Given the description of an element on the screen output the (x, y) to click on. 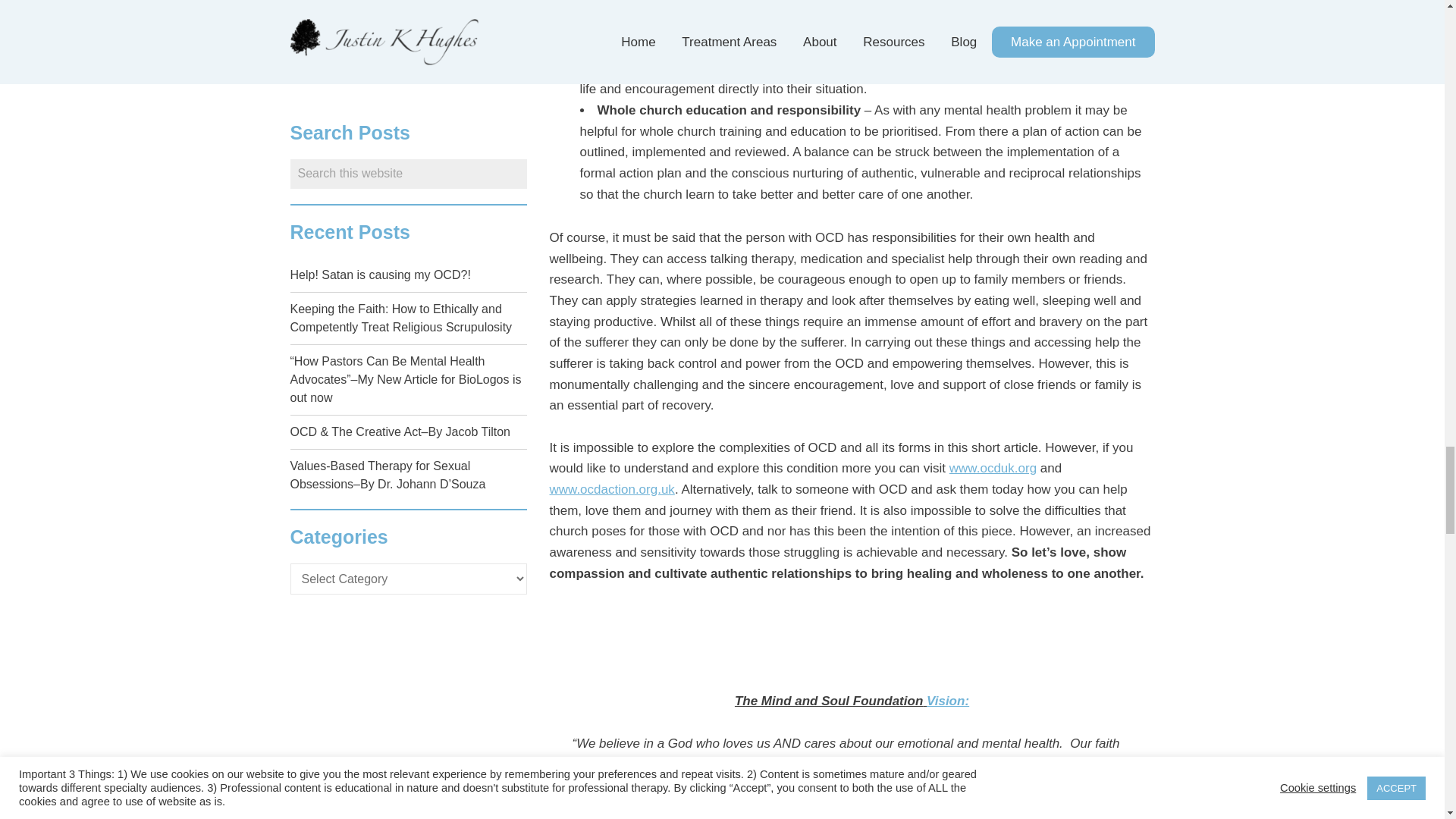
Vision: (947, 700)
www.ocdaction.org.uk (611, 489)
www.ocduk.org (992, 468)
